Given the description of an element on the screen output the (x, y) to click on. 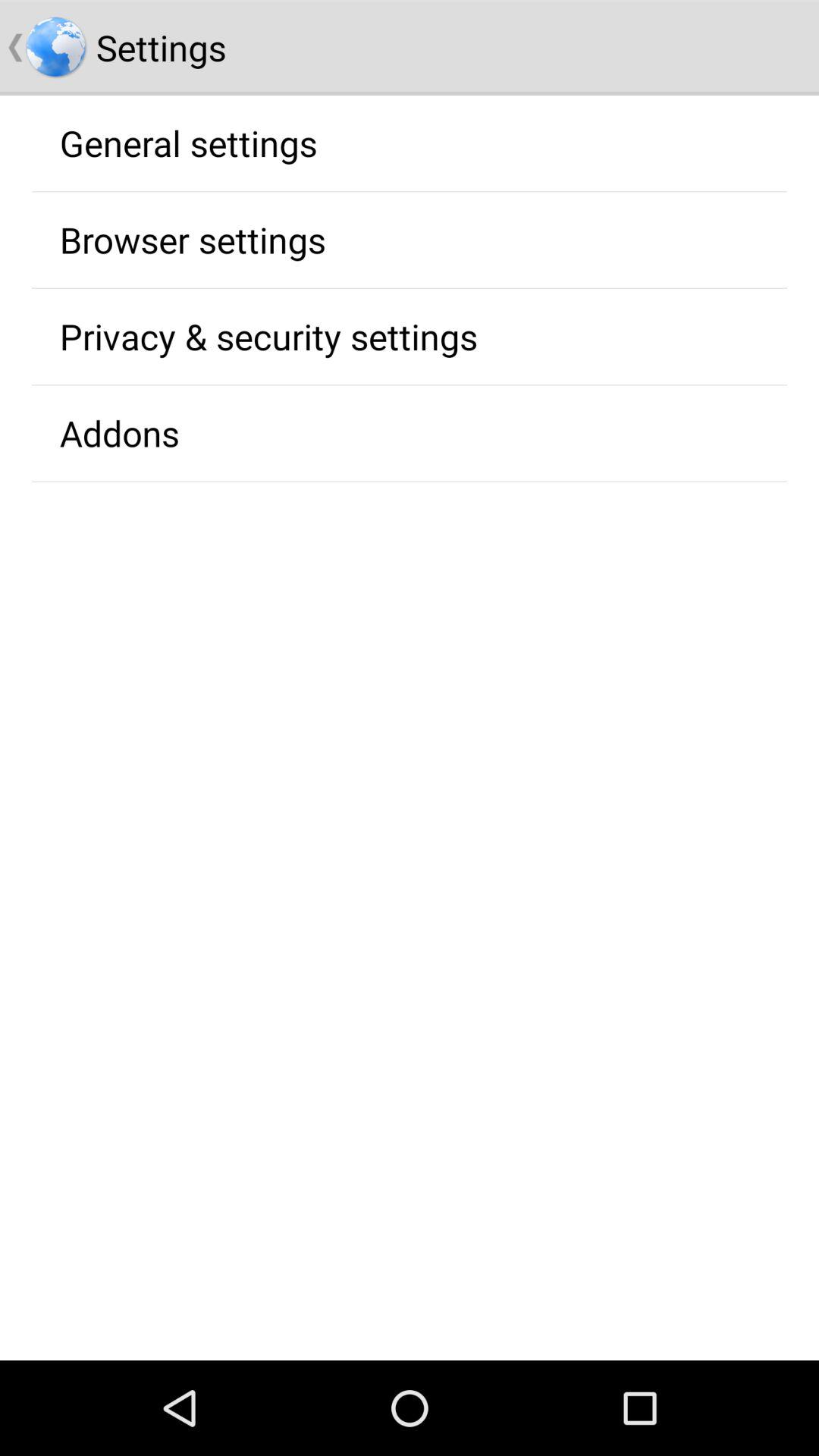
select the app above the privacy & security settings item (192, 239)
